Given the description of an element on the screen output the (x, y) to click on. 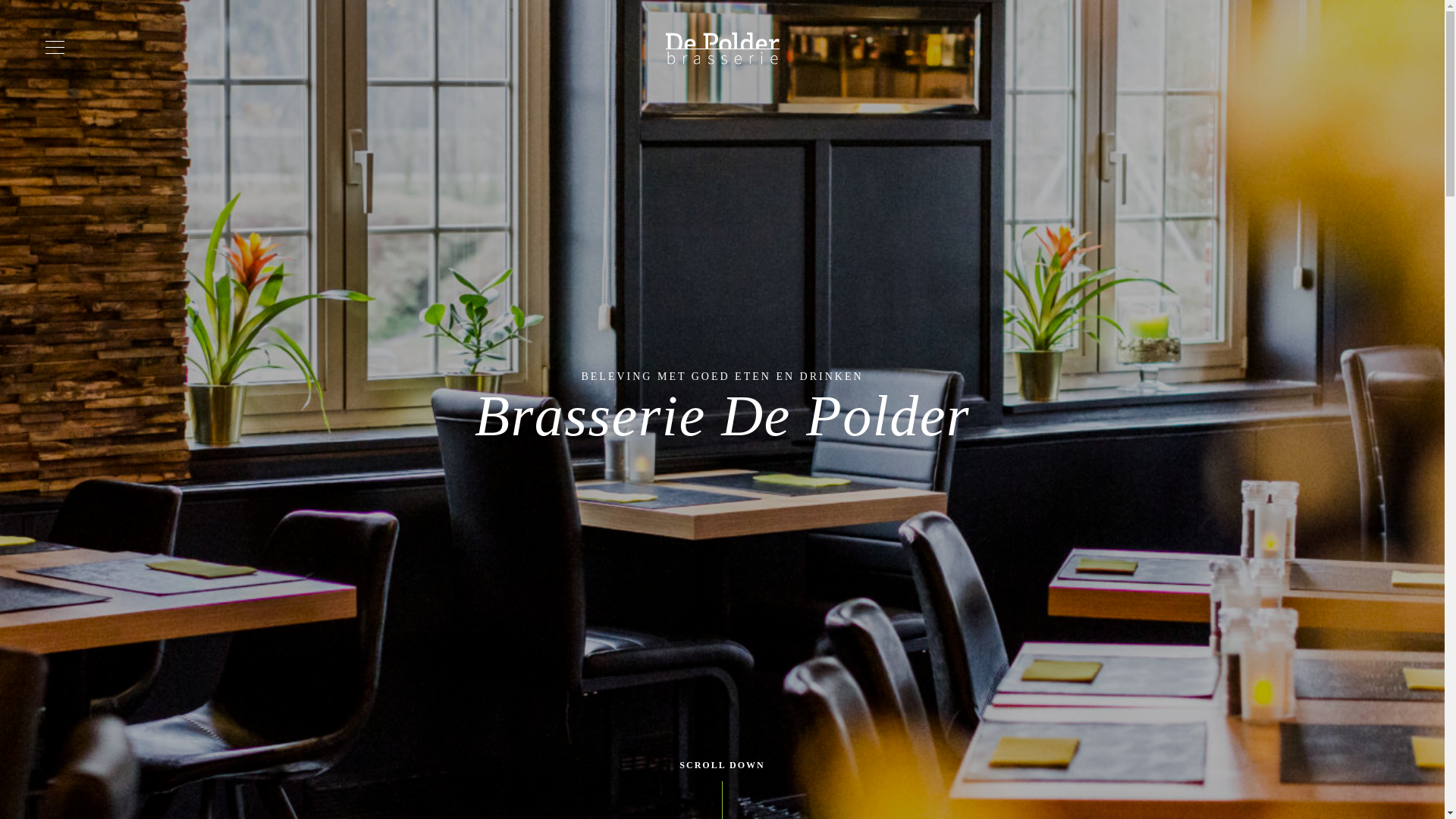
SCROLL DOWN Element type: text (721, 765)
